Given the description of an element on the screen output the (x, y) to click on. 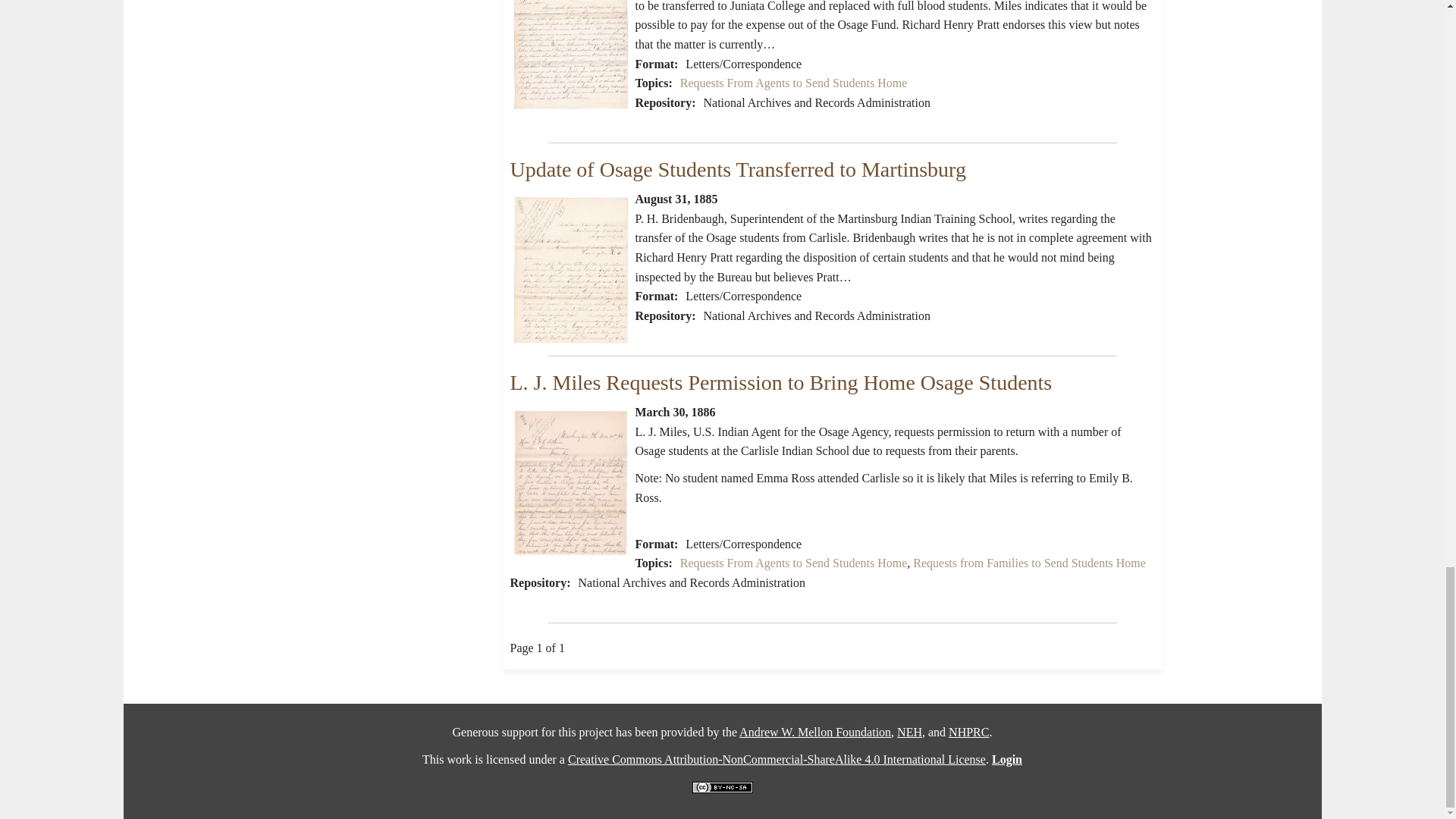
Update of Osage Students Transferred to Martinsburg (737, 169)
Go to the Creative Commons site for more information (776, 758)
Requests From Agents to Send Students Home (793, 562)
Login for Archives staff (1006, 758)
Requests From Agents to Send Students Home (793, 82)
Go to the Andrew W. Mellon Foundation site (815, 731)
L. J. Miles Requests Permission to Bring Home Osage Students (780, 382)
Requests from Families to Send Students Home (1028, 562)
Return of Osage Students being Sent to Juniata College (570, 54)
